Given the description of an element on the screen output the (x, y) to click on. 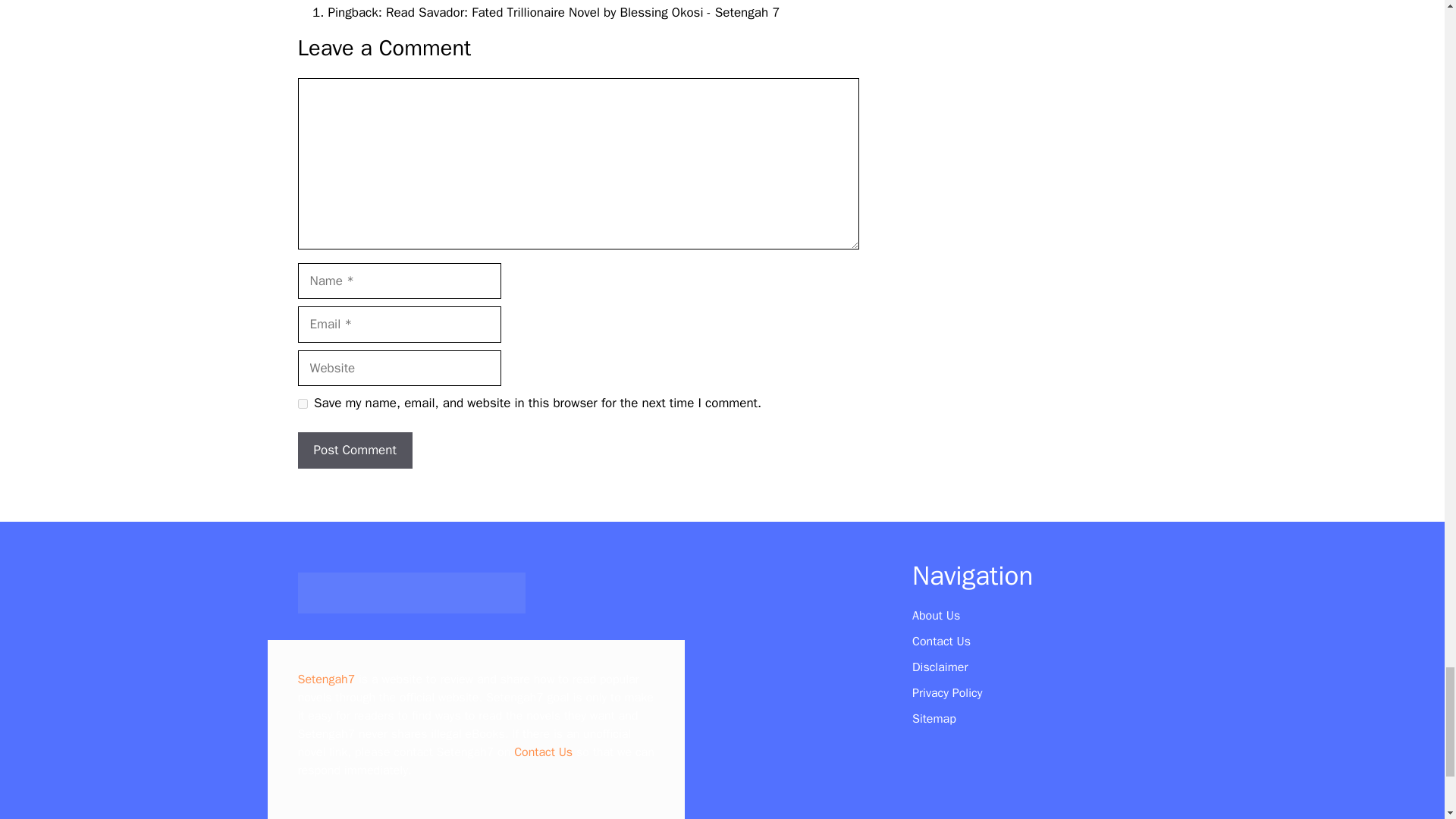
yes (302, 403)
Post Comment (354, 450)
